Given the description of an element on the screen output the (x, y) to click on. 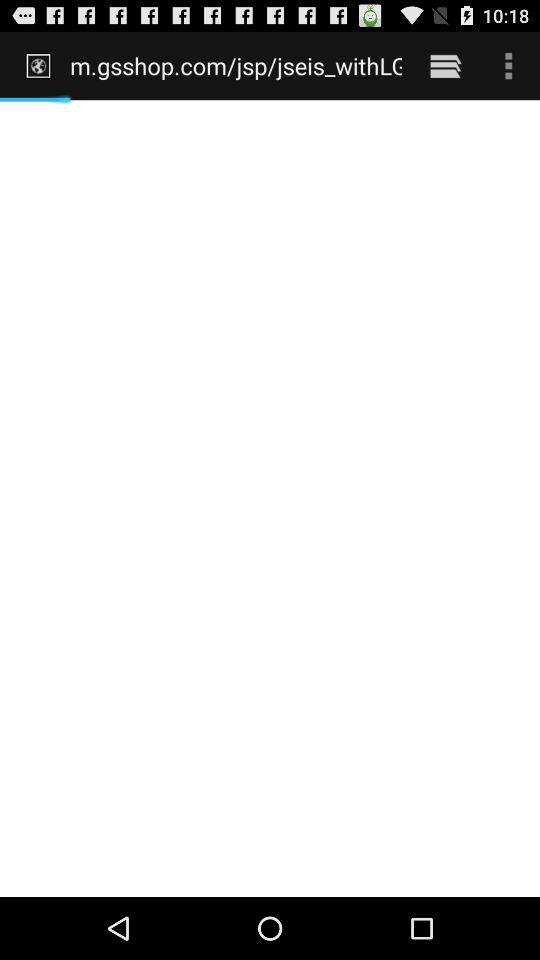
click icon next to the m gsshop com icon (444, 65)
